Given the description of an element on the screen output the (x, y) to click on. 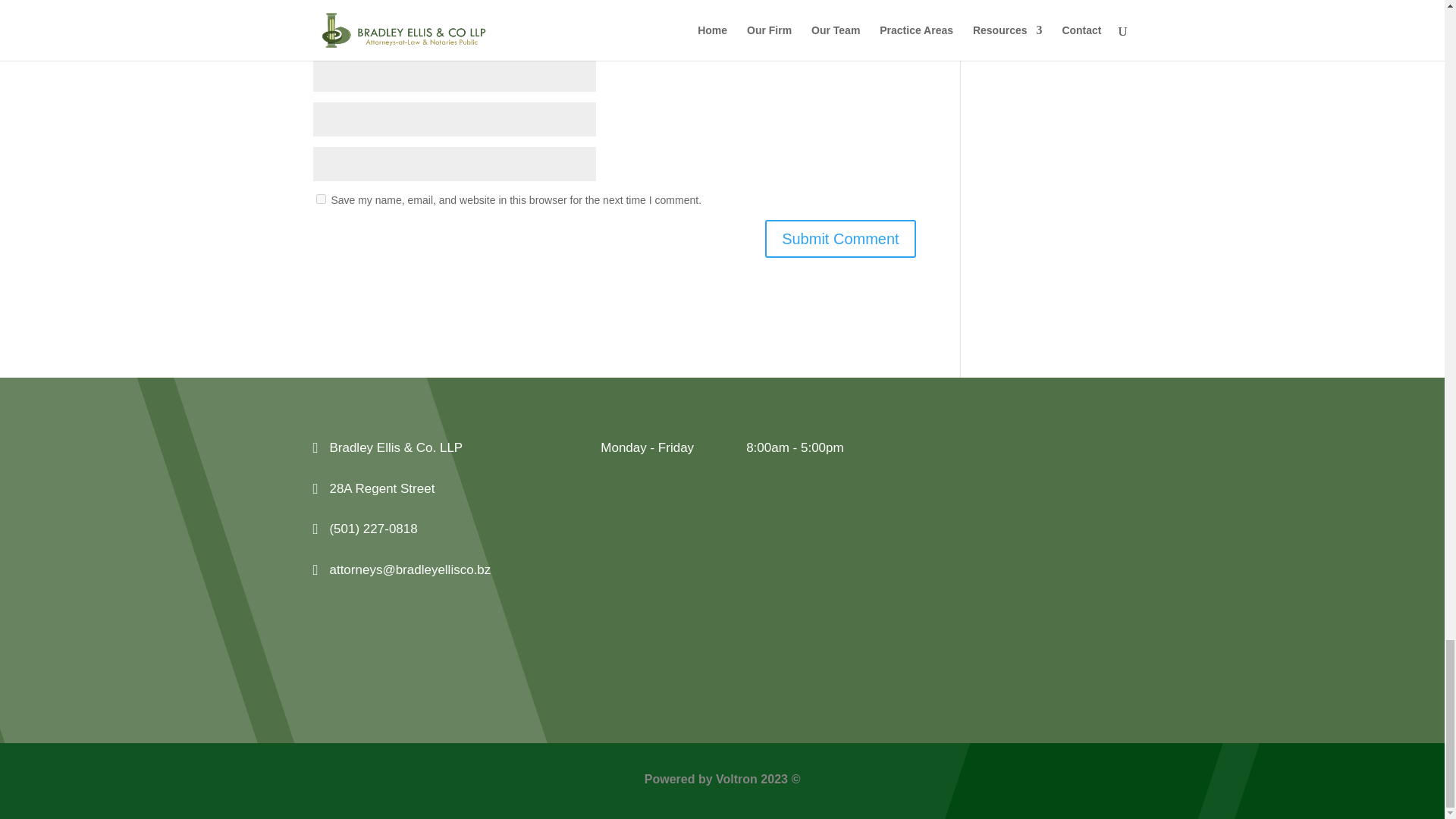
yes (319, 198)
Submit Comment (840, 238)
